Given the description of an element on the screen output the (x, y) to click on. 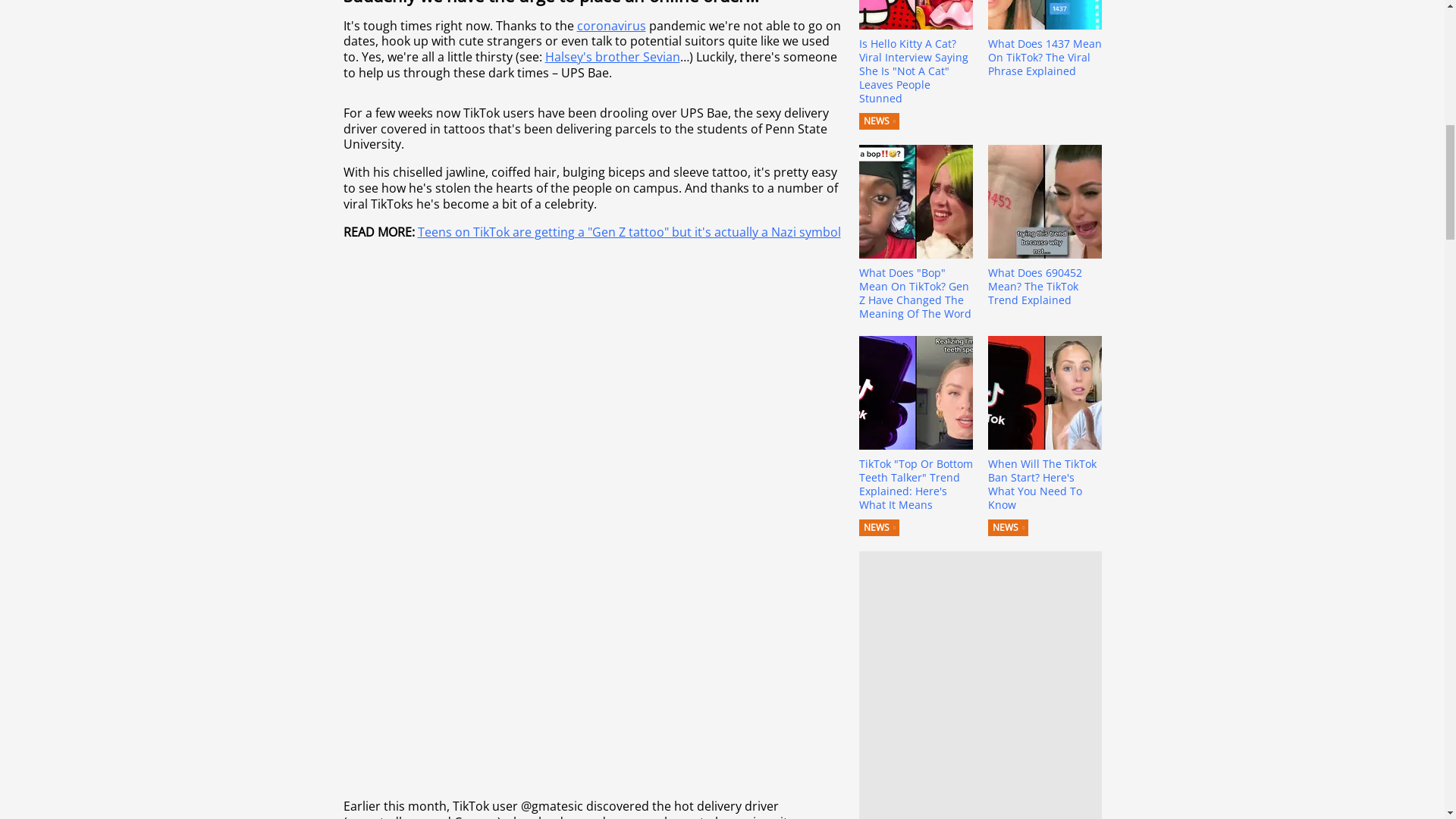
coronavirus (610, 25)
Halsey's brother Sevian (611, 56)
